Given the description of an element on the screen output the (x, y) to click on. 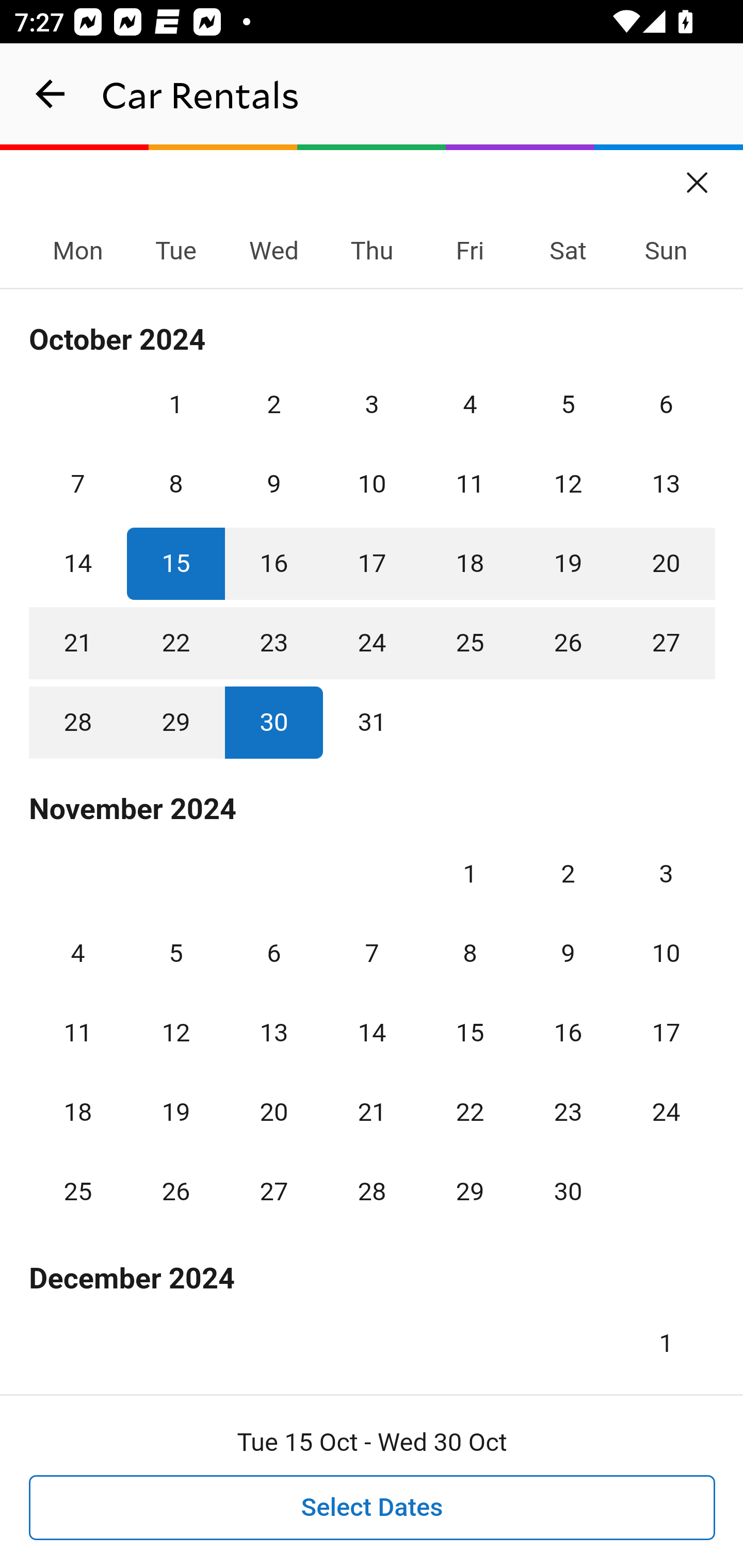
navigation_button (50, 93)
Close (697, 176)
1 October 2024 (175, 404)
2 October 2024 (273, 404)
3 October 2024 (371, 404)
4 October 2024 (470, 404)
5 October 2024 (567, 404)
6 October 2024 (665, 404)
7 October 2024 (77, 484)
8 October 2024 (175, 484)
9 October 2024 (273, 484)
10 October 2024 (371, 484)
11 October 2024 (470, 484)
12 October 2024 (567, 484)
13 October 2024 (665, 484)
14 October 2024 (77, 563)
15 October 2024 (175, 563)
16 October 2024 (273, 563)
17 October 2024 (371, 563)
18 October 2024 (470, 563)
19 October 2024 (567, 563)
20 October 2024 (665, 563)
21 October 2024 (77, 642)
22 October 2024 (175, 642)
23 October 2024 (273, 642)
24 October 2024 (371, 642)
25 October 2024 (470, 642)
26 October 2024 (567, 642)
27 October 2024 (665, 642)
28 October 2024 (77, 722)
29 October 2024 (175, 722)
30 October 2024 (273, 722)
31 October 2024 (371, 722)
1 November 2024 (470, 873)
2 November 2024 (567, 873)
3 November 2024 (665, 873)
4 November 2024 (77, 952)
5 November 2024 (175, 952)
6 November 2024 (273, 952)
7 November 2024 (371, 952)
8 November 2024 (470, 952)
9 November 2024 (567, 952)
10 November 2024 (665, 952)
11 November 2024 (77, 1032)
12 November 2024 (175, 1032)
13 November 2024 (273, 1032)
14 November 2024 (371, 1032)
15 November 2024 (470, 1032)
16 November 2024 (567, 1032)
17 November 2024 (665, 1032)
